Given the description of an element on the screen output the (x, y) to click on. 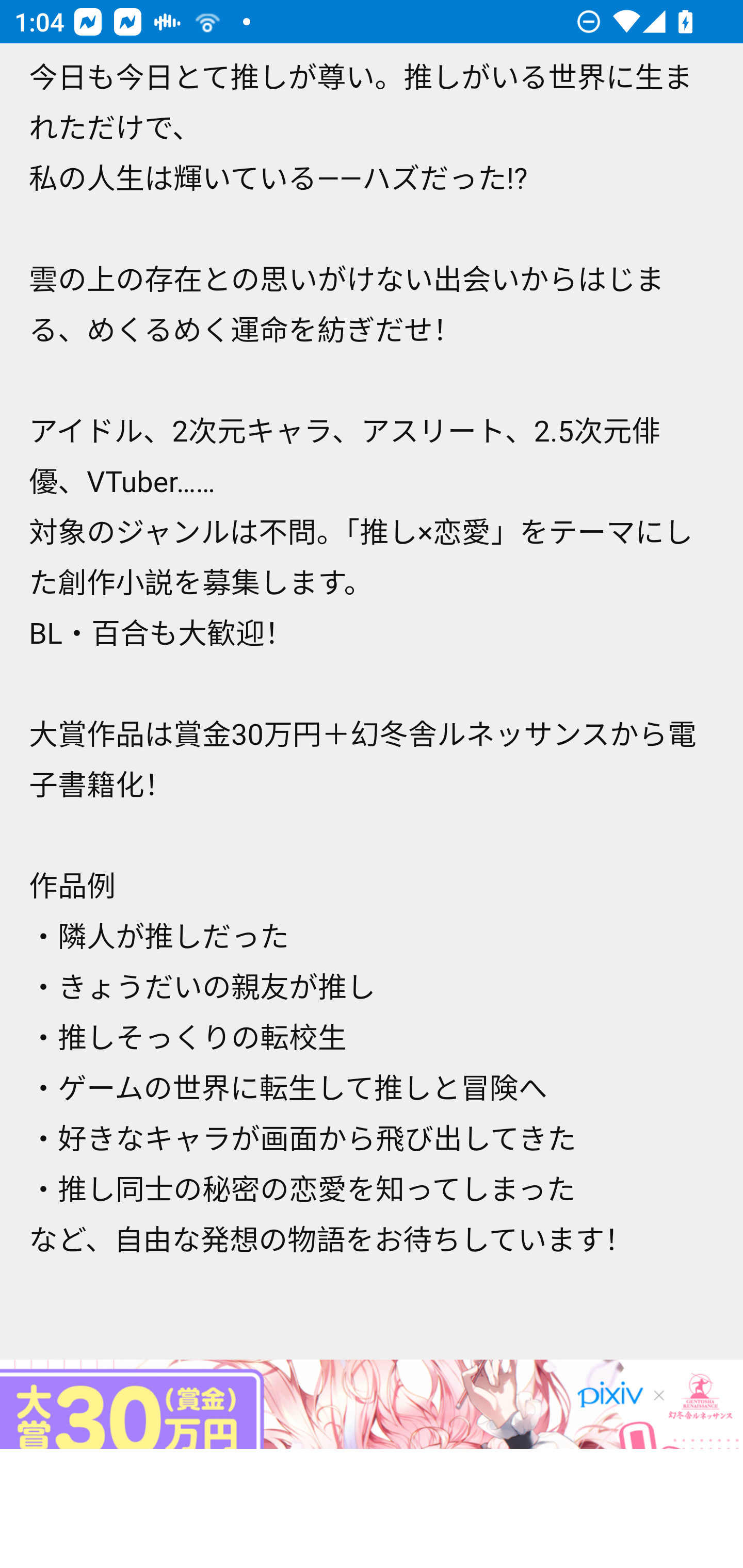
「推し」×ヒミツの恋愛“推し恋”小説コンテスト　開催 (371, 1403)
